Given the description of an element on the screen output the (x, y) to click on. 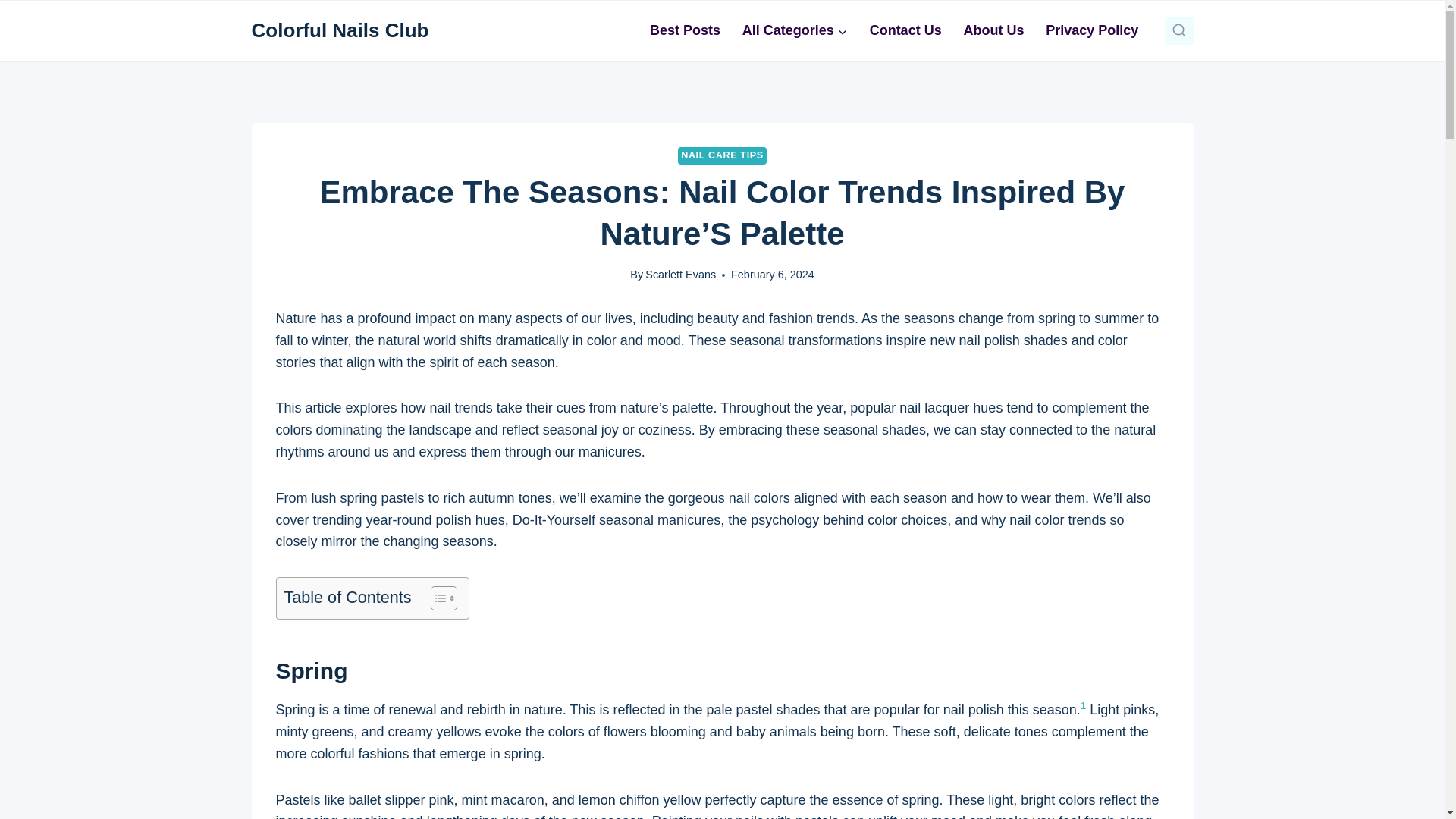
Contact Us (905, 30)
Scarlett Evans (680, 274)
About Us (993, 30)
All Categories (794, 30)
Colorful Nails Club (340, 30)
Best Posts (685, 30)
NAIL CARE TIPS (722, 155)
Privacy Policy (1092, 30)
